Given the description of an element on the screen output the (x, y) to click on. 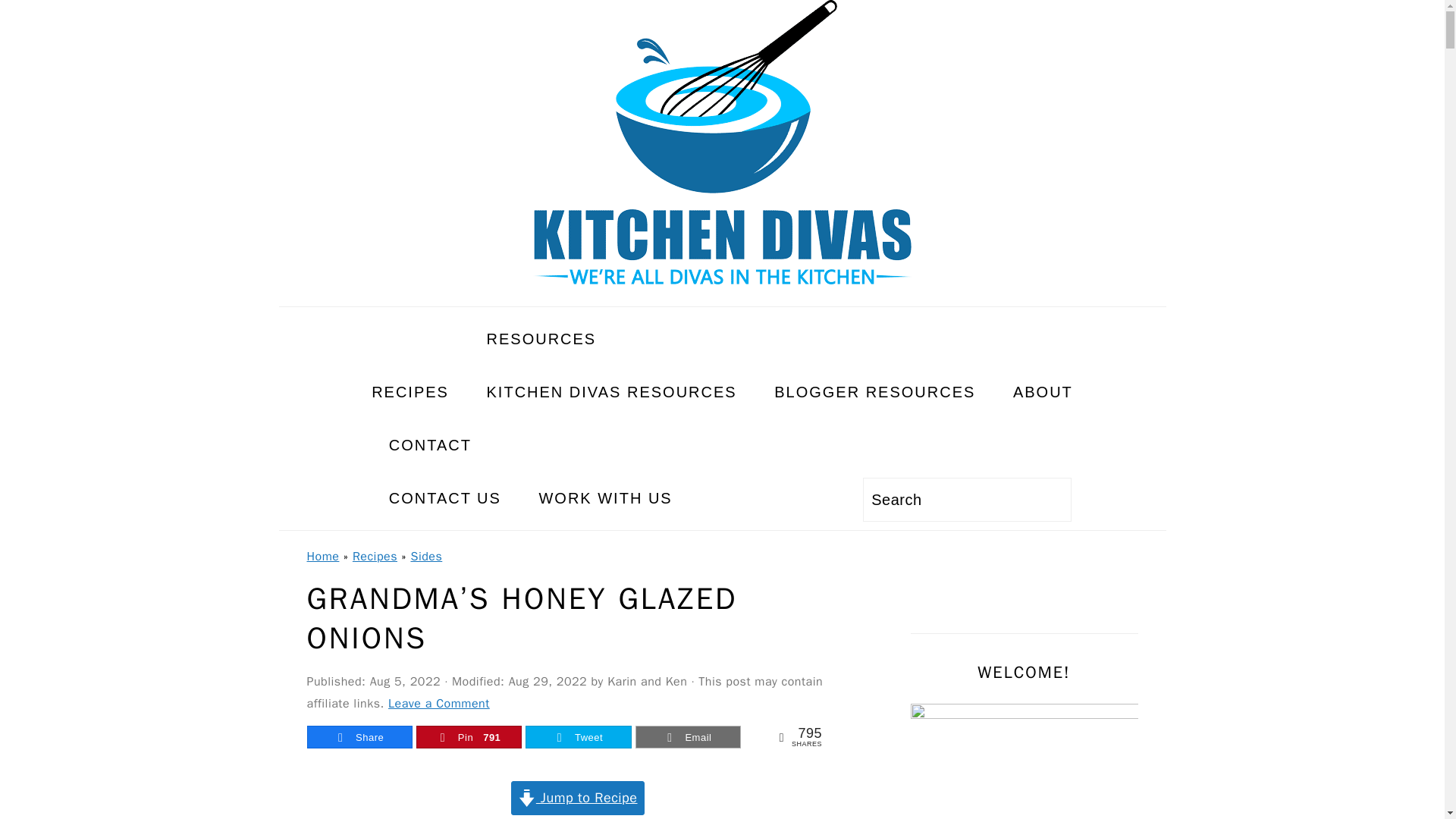
RECIPES (409, 391)
RESOURCES (730, 338)
BLOGGER RESOURCES (874, 391)
Kitchen Divas (721, 142)
Kitchen Divas (721, 292)
ABOUT (1043, 391)
CONTACT (530, 444)
CONTACT US (444, 497)
WORK WITH US (604, 497)
Home (322, 556)
KITCHEN DIVAS RESOURCES (611, 391)
